Given the description of an element on the screen output the (x, y) to click on. 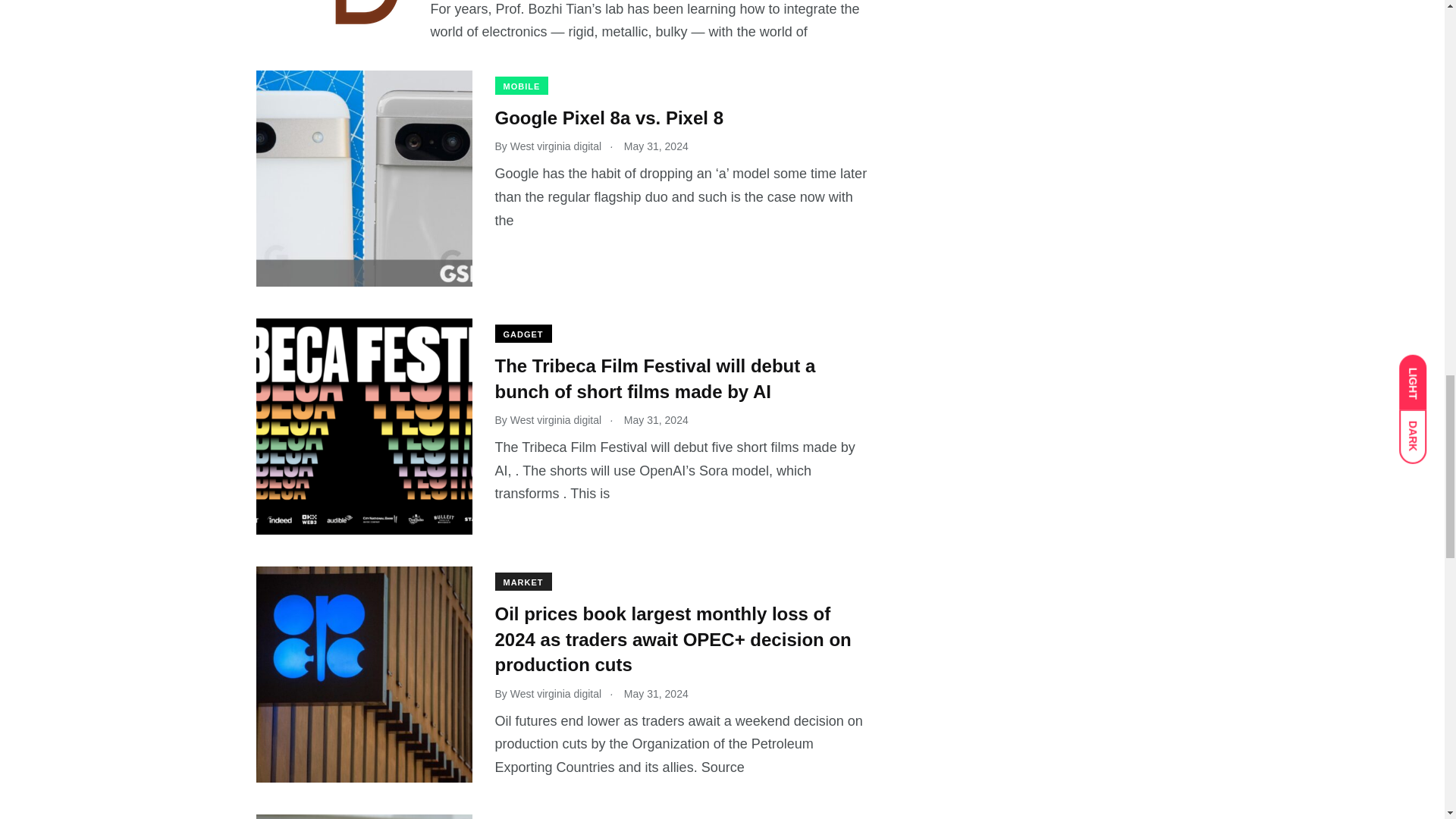
MOBILE (521, 85)
GADGET (523, 333)
West virginia digital (556, 146)
West virginia digital (556, 419)
West virginia digital (556, 693)
Google Pixel 8a vs. Pixel 8 (609, 117)
MARKET (523, 581)
